Given the description of an element on the screen output the (x, y) to click on. 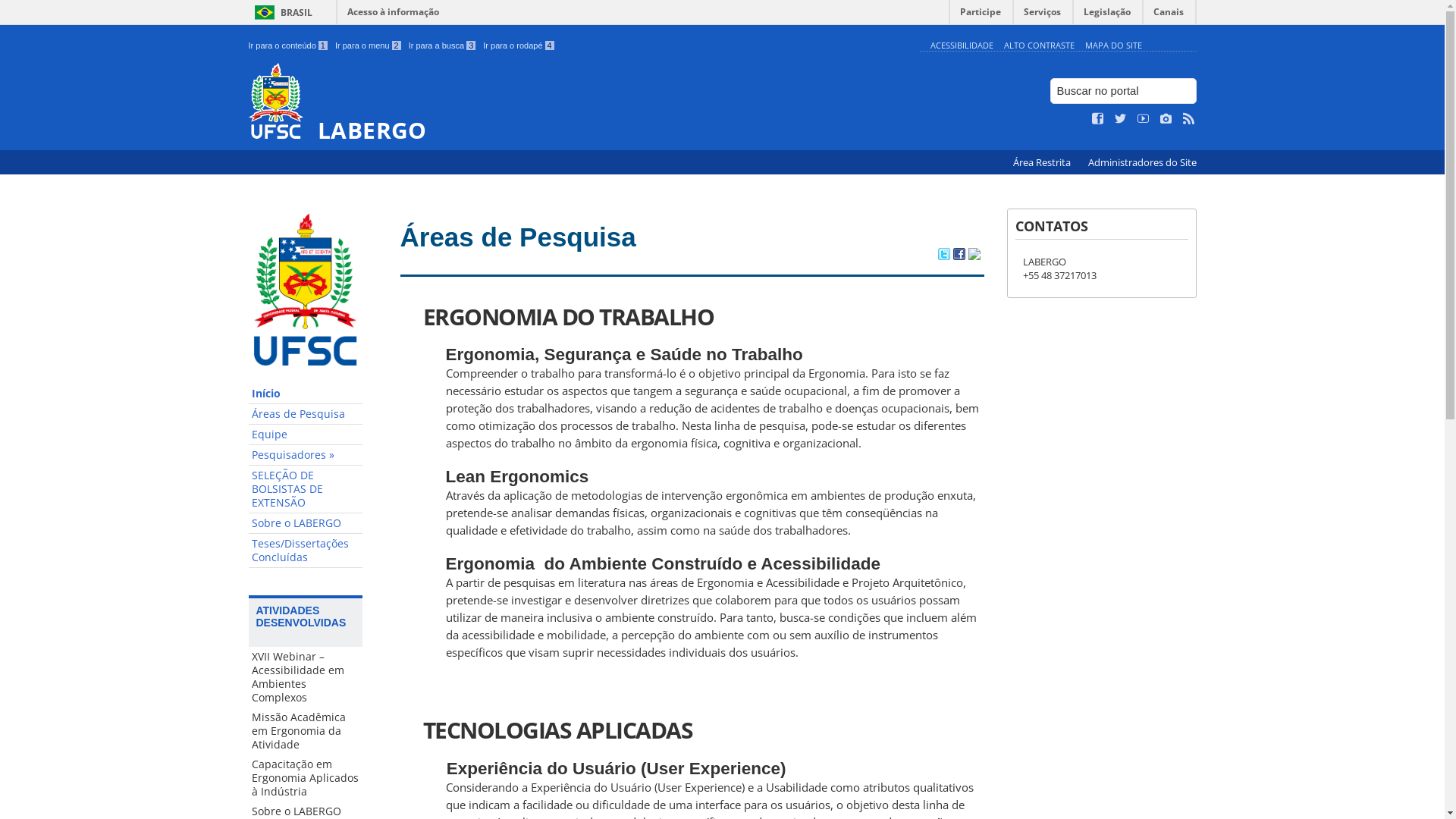
Compartilhar no Facebook Element type: hover (958, 255)
Curta no Facebook Element type: hover (1098, 118)
Ir para a busca 3 Element type: text (442, 45)
Equipe Element type: text (305, 434)
MAPA DO SITE Element type: text (1112, 44)
LABERGO Element type: text (580, 102)
ACESSIBILIDADE Element type: text (960, 44)
BRASIL Element type: text (280, 12)
Administradores do Site Element type: text (1141, 162)
Participe Element type: text (980, 15)
Sobre o LABERGO Element type: text (305, 523)
Siga no Twitter Element type: hover (1120, 118)
ALTO CONTRASTE Element type: text (1039, 44)
Ir para o menu 2 Element type: text (368, 45)
Veja no Instagram Element type: hover (1166, 118)
Canais Element type: text (1169, 15)
Compartilhar no Twitter Element type: hover (943, 255)
Compartilhar no WhatsApp Element type: hover (973, 255)
